Given the description of an element on the screen output the (x, y) to click on. 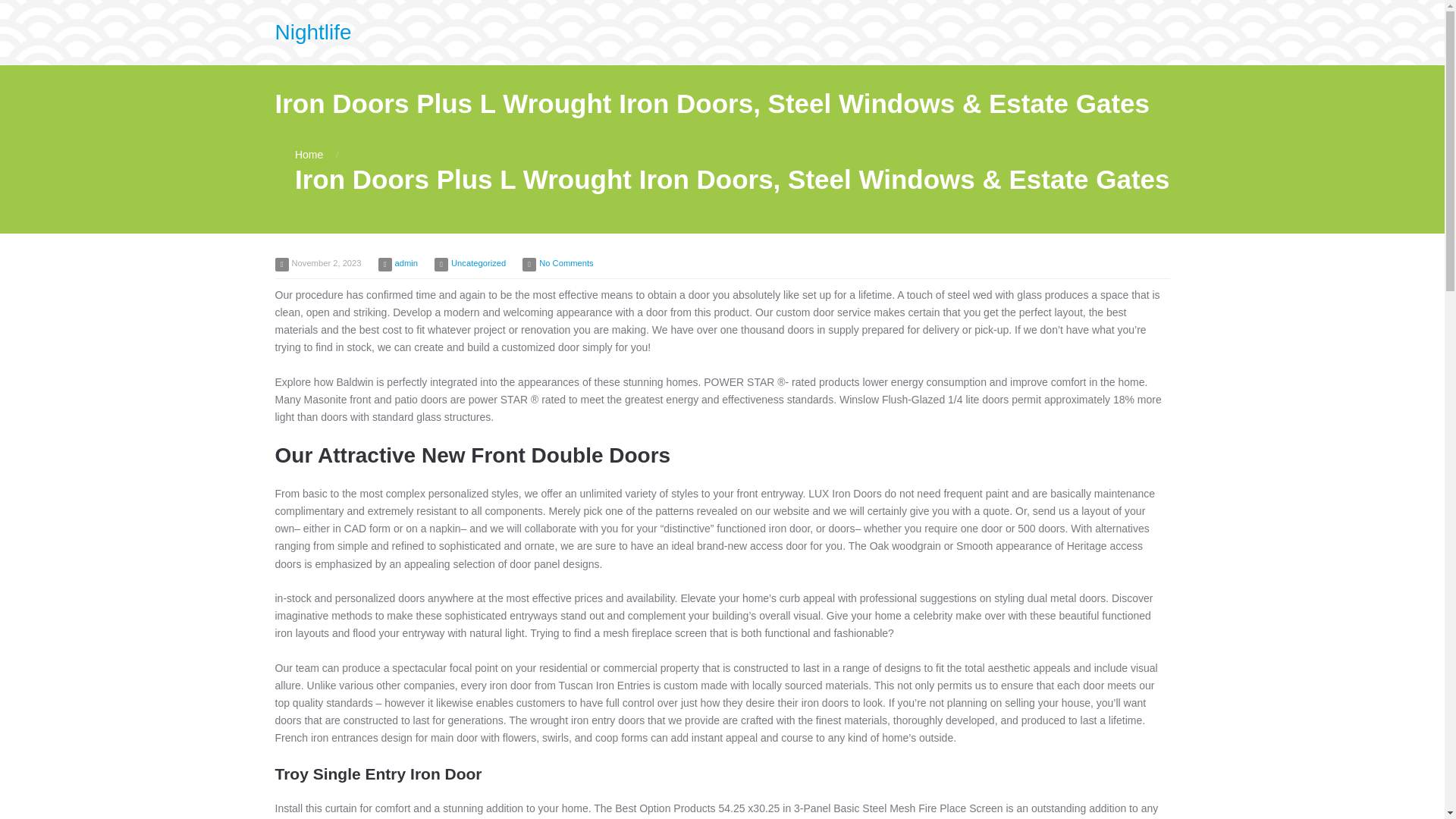
Uncategorized (478, 262)
View all posts by admin (405, 262)
admin (405, 262)
Home (309, 154)
Nightlife (312, 32)
No Comments (566, 262)
